Given the description of an element on the screen output the (x, y) to click on. 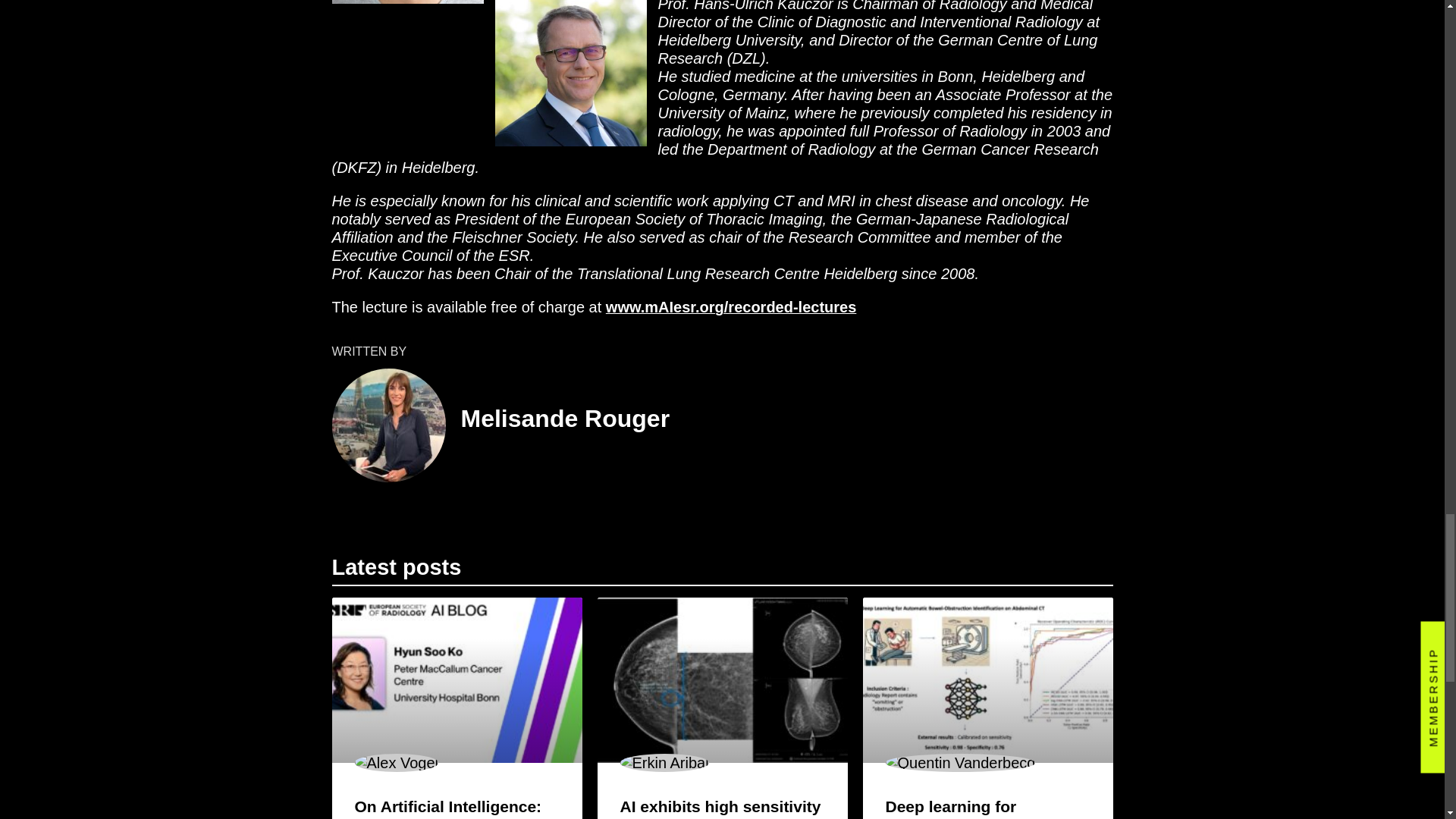
Melisande Rouger (565, 418)
On Artificial Intelligence: An interview with Hyun Soo Ko (448, 808)
Melisande Rouger (565, 418)
